Given the description of an element on the screen output the (x, y) to click on. 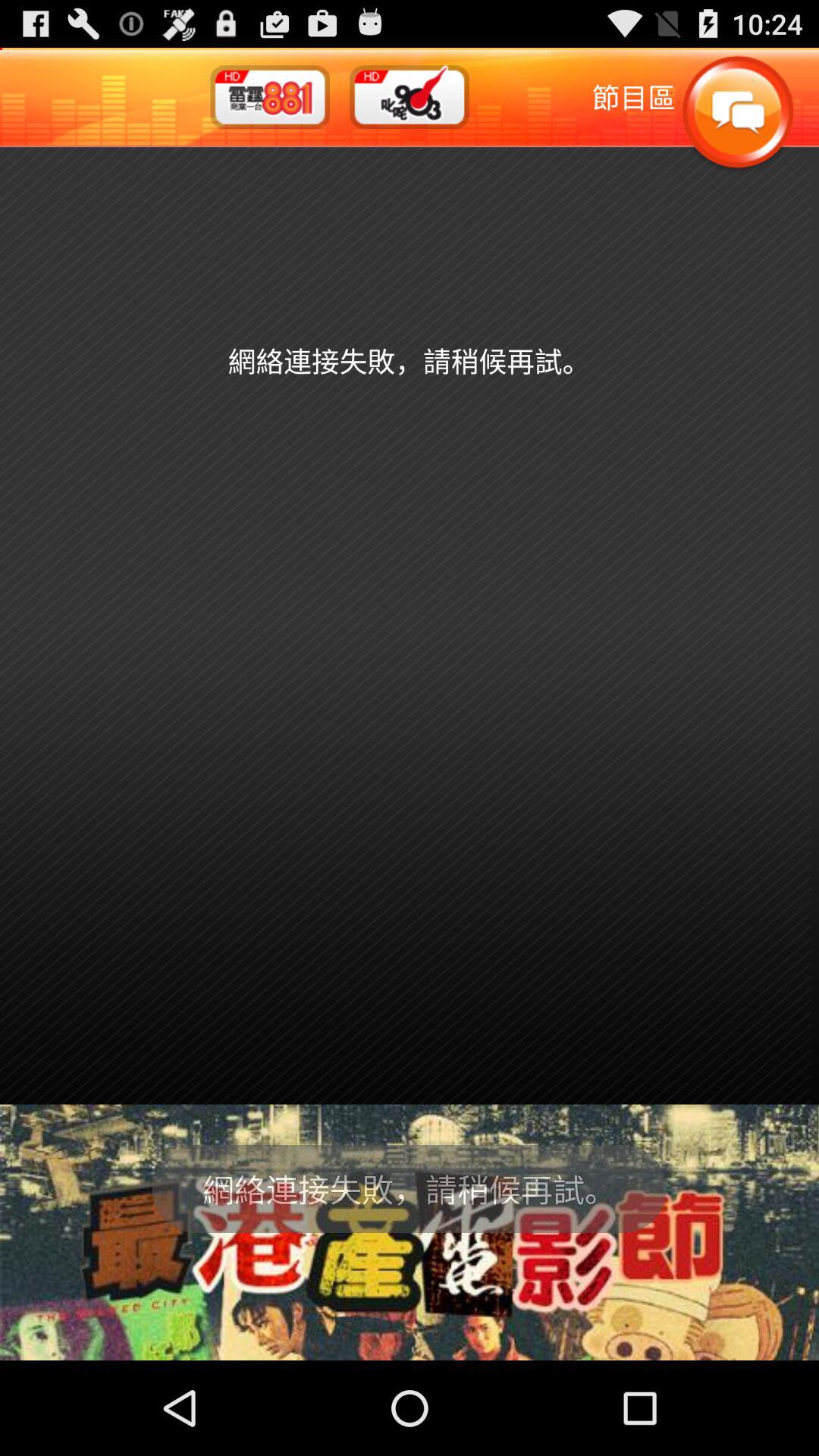
chat (737, 113)
